Given the description of an element on the screen output the (x, y) to click on. 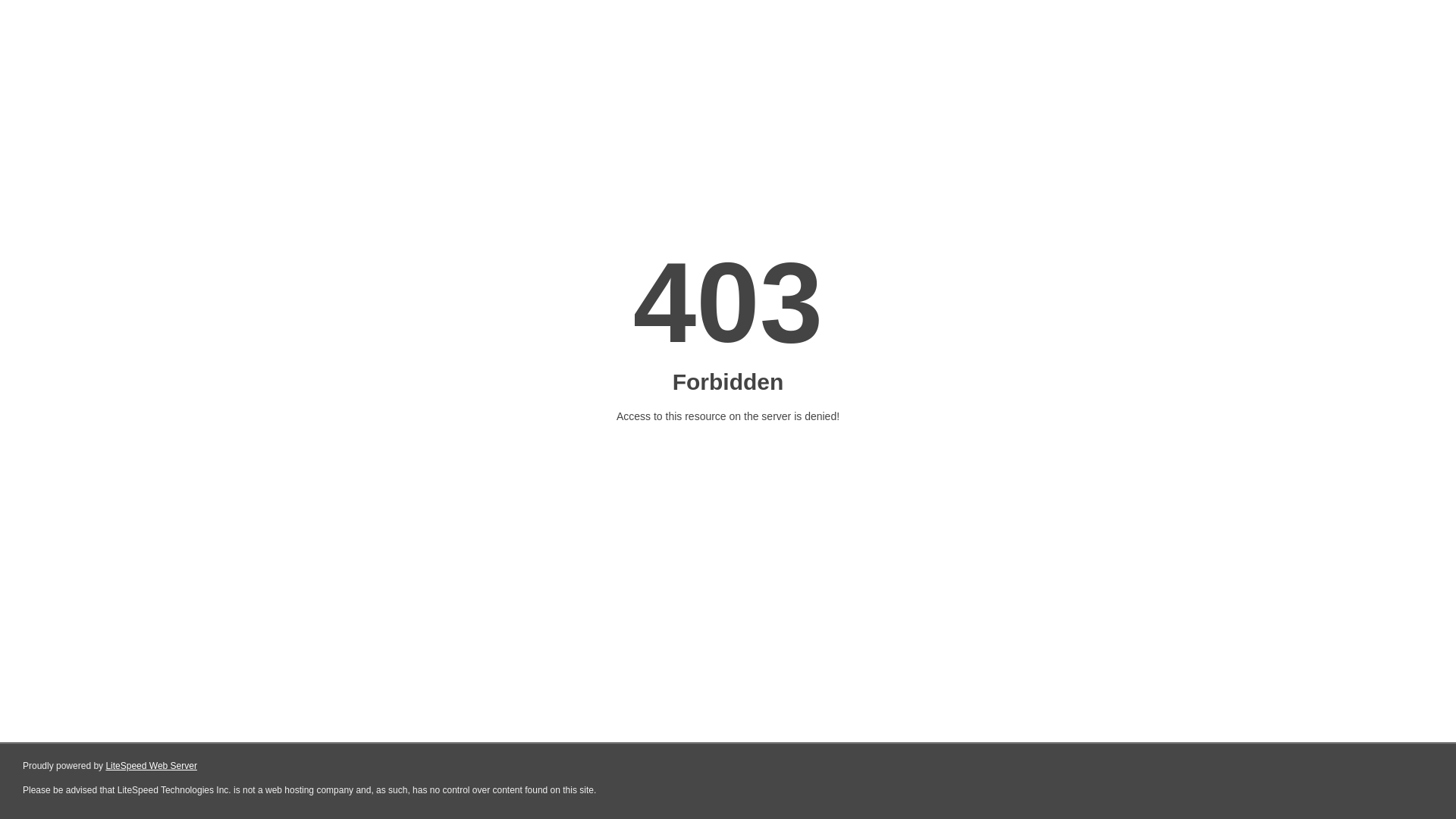
LiteSpeed Web Server Element type: text (151, 765)
